Given the description of an element on the screen output the (x, y) to click on. 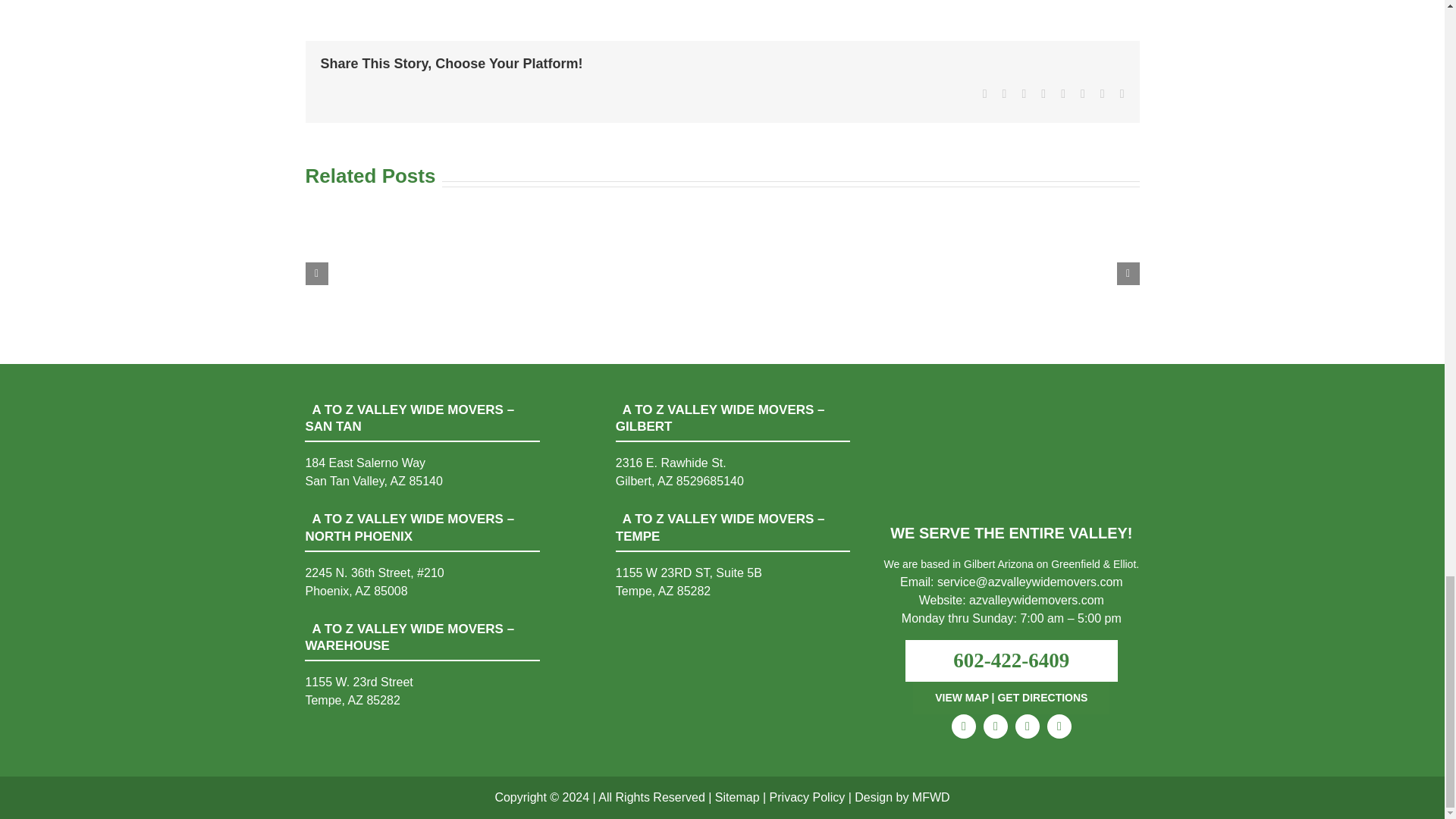
YouTube (1026, 726)
Facebook (963, 726)
Twitter (995, 726)
Pinterest (1058, 726)
